Given the description of an element on the screen output the (x, y) to click on. 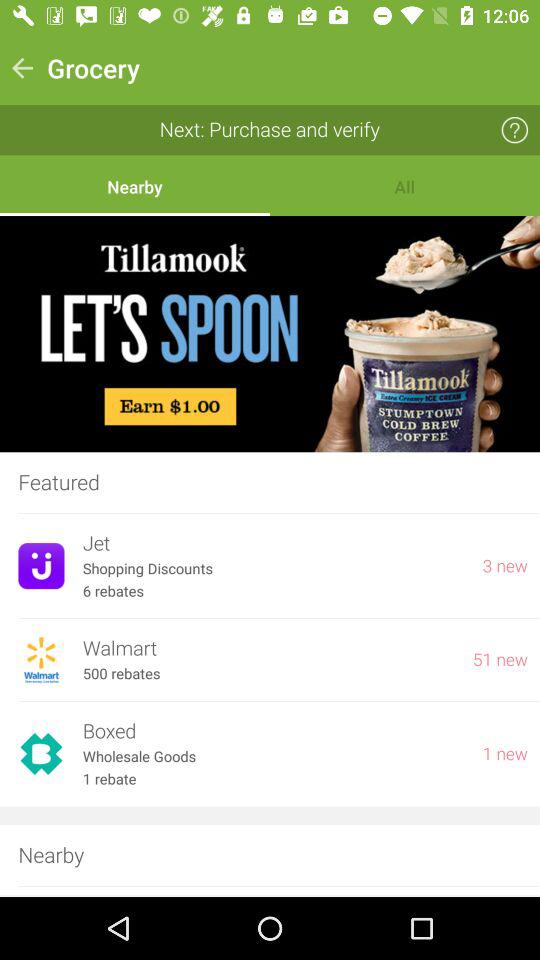
press the featured item (269, 482)
